Given the description of an element on the screen output the (x, y) to click on. 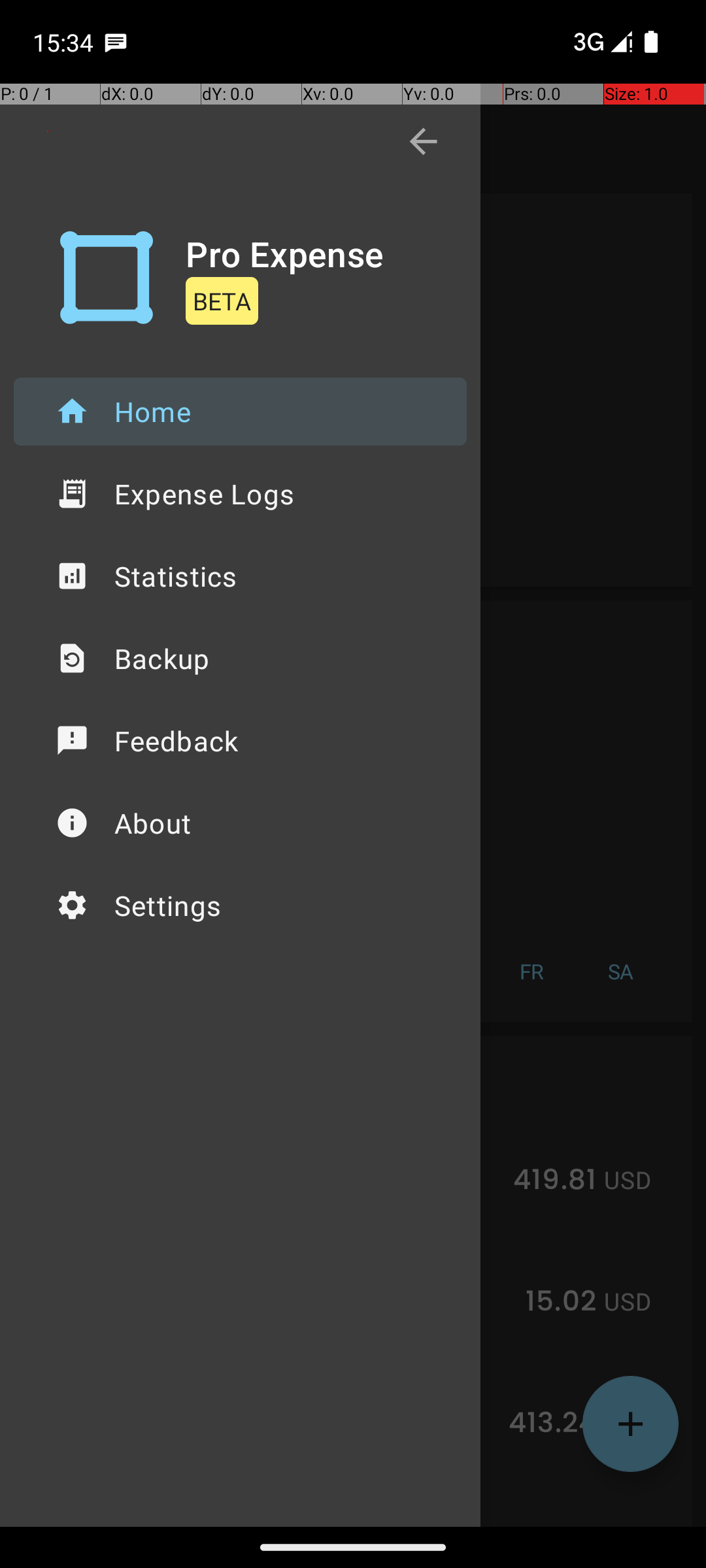
Pro Expense Element type: android.widget.TextView (284, 253)
BETA Element type: android.widget.TextView (221, 300)
Expense Logs Element type: android.widget.CheckedTextView (239, 493)
Statistics Element type: android.widget.CheckedTextView (239, 576)
Backup Element type: android.widget.CheckedTextView (239, 658)
Feedback Element type: android.widget.CheckedTextView (239, 740)
About Element type: android.widget.CheckedTextView (239, 823)
